Given the description of an element on the screen output the (x, y) to click on. 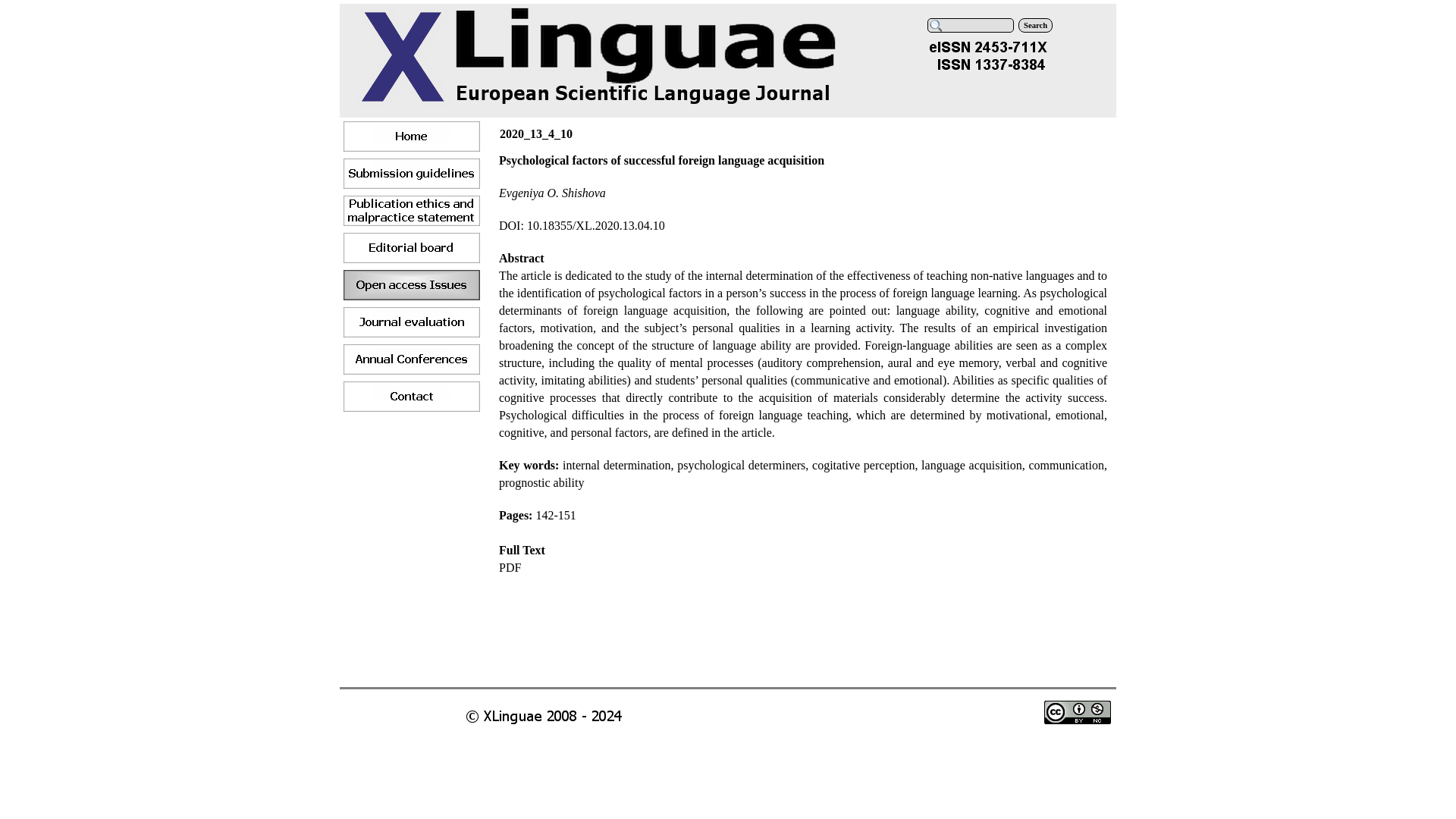
PDF (510, 567)
